Given the description of an element on the screen output the (x, y) to click on. 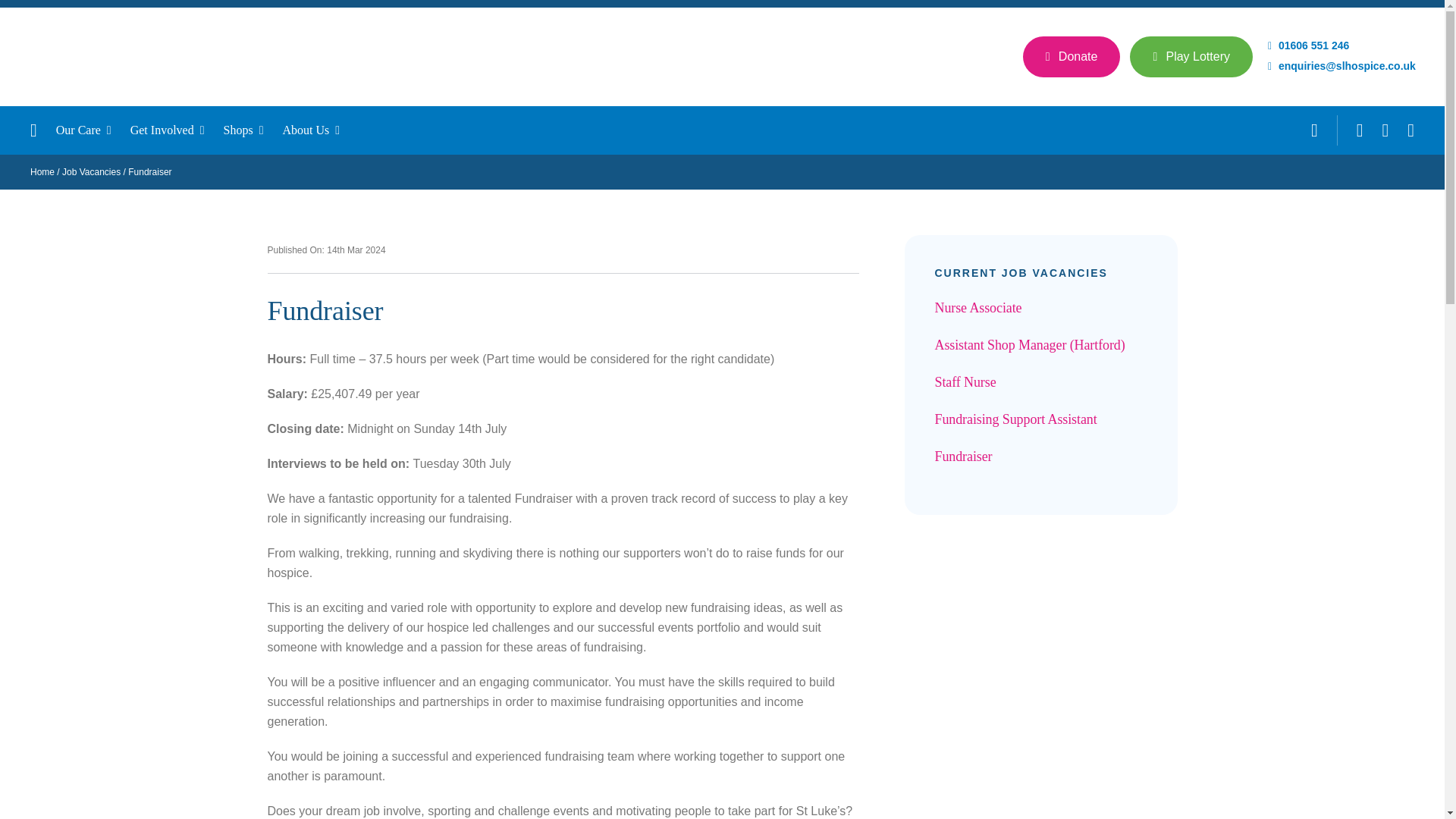
Get Involved (177, 130)
Search (1314, 130)
01606 551 246 (1308, 46)
Donate (1072, 56)
Play Lottery (1190, 56)
Our Care (93, 130)
